Given the description of an element on the screen output the (x, y) to click on. 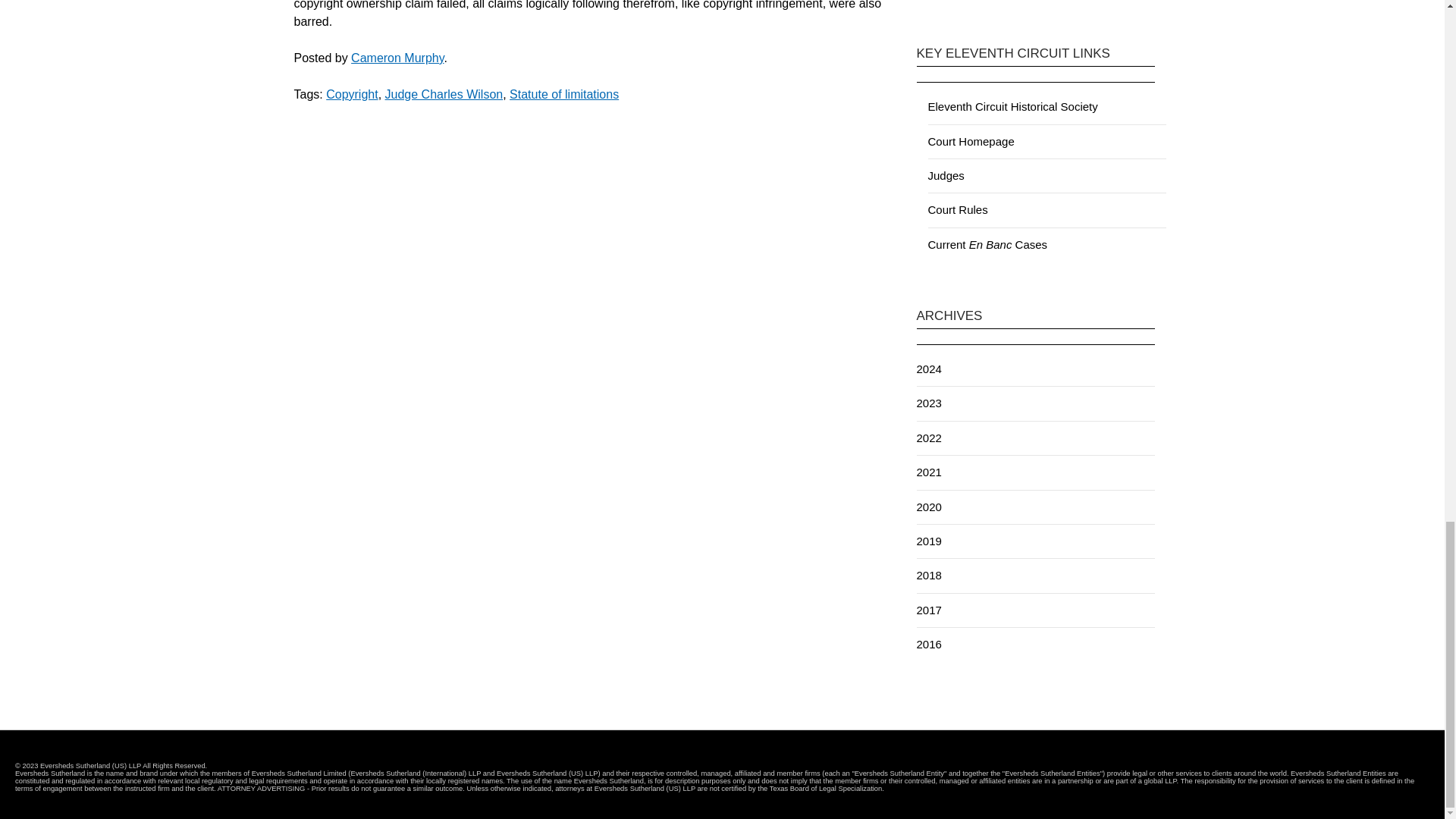
Copyright (351, 93)
Judge Charles Wilson (444, 93)
Copyright (351, 93)
Cameron Murphy (397, 57)
Judge Charles Wilson (444, 93)
Statute of limitations (563, 93)
Eleventh Circuit Historical Society (1012, 106)
Statute of limitations (563, 93)
